Given the description of an element on the screen output the (x, y) to click on. 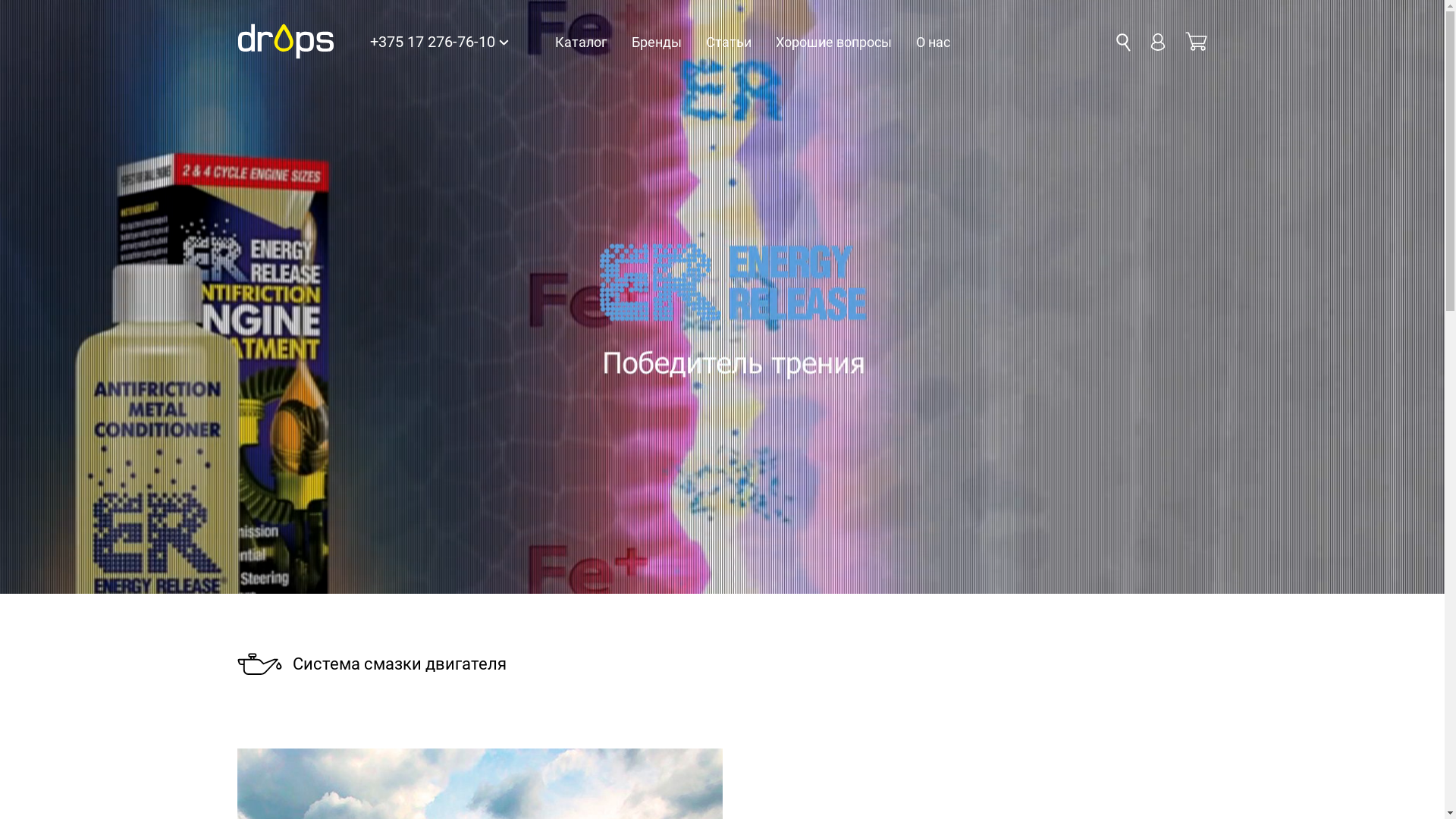
+375 17 276-76-10 Element type: text (438, 41)
